Given the description of an element on the screen output the (x, y) to click on. 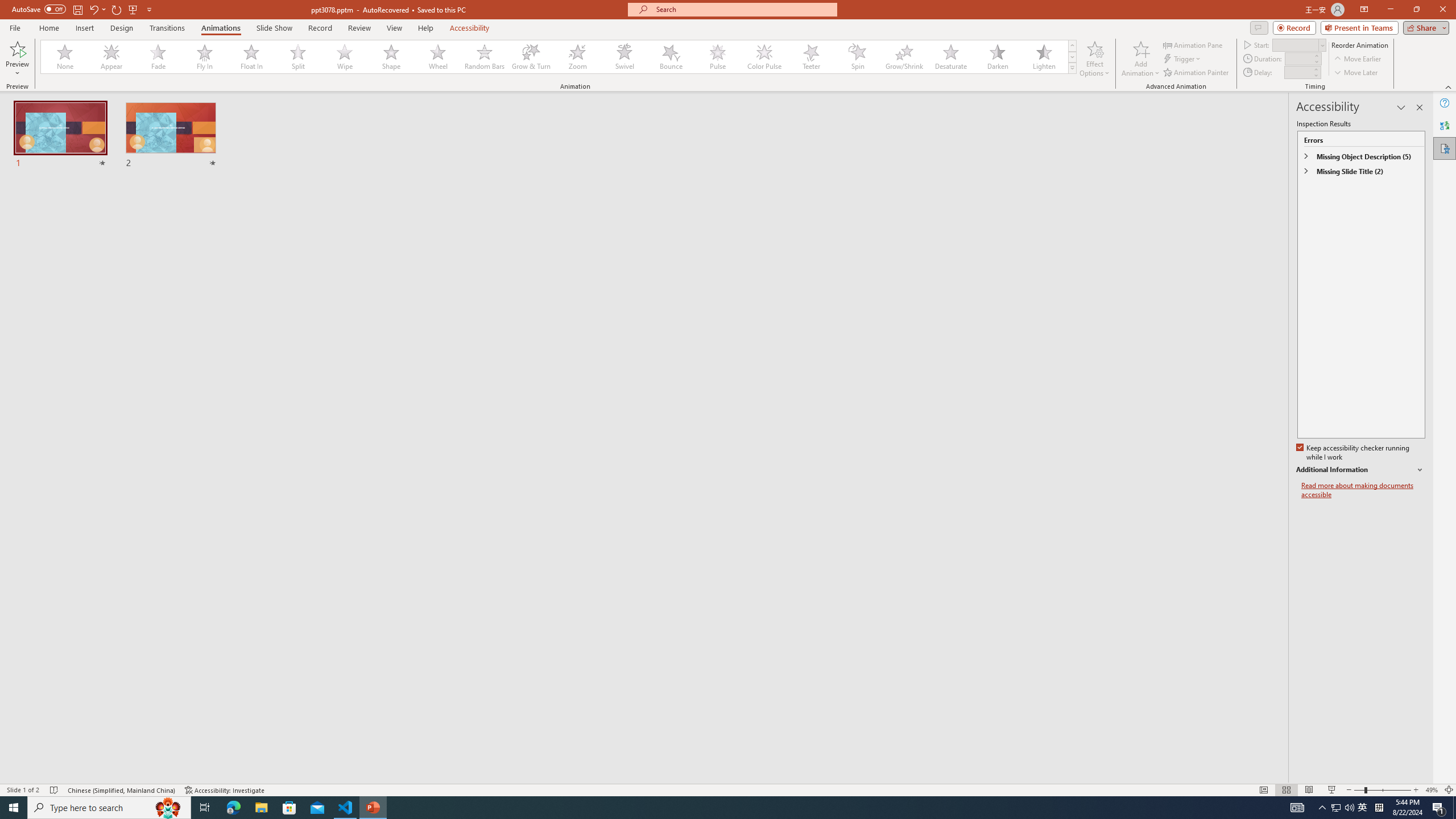
Fly In (205, 56)
Zoom 49% (1431, 790)
Accessibility (1444, 147)
Reading View (1308, 790)
Task Pane Options (1400, 107)
Bounce (670, 56)
Desaturate (950, 56)
Help (1444, 102)
Class: MsoCommandBar (728, 789)
Transitions (167, 28)
AutoSave (38, 9)
Undo (96, 9)
Random Bars (484, 56)
Color Pulse (764, 56)
None (65, 56)
